Given the description of an element on the screen output the (x, y) to click on. 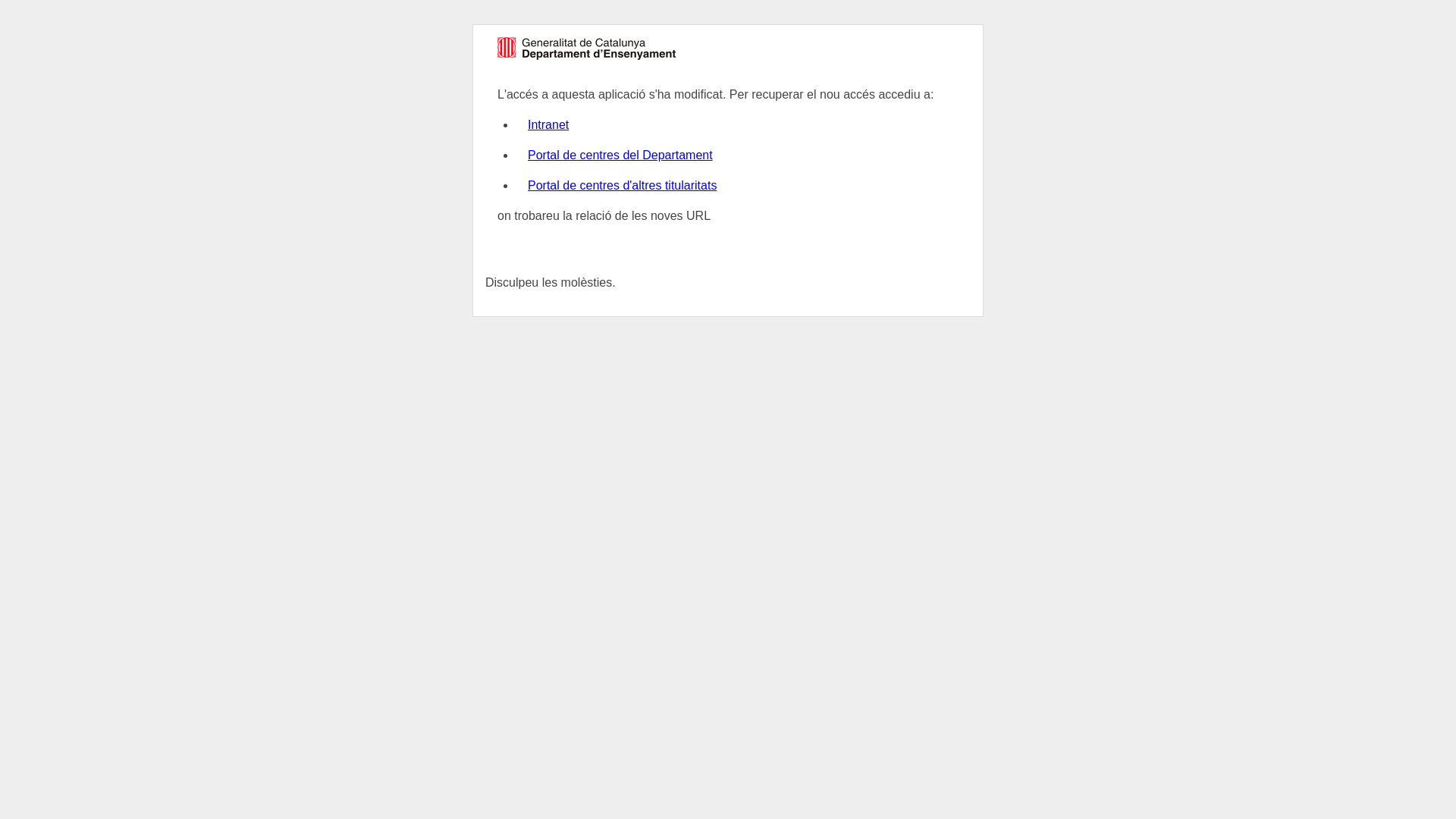
Portal de centres d'altres titularitats Element type: text (621, 184)
Intranet Element type: text (547, 124)
Portal de centres del Departament Element type: text (619, 154)
